Given the description of an element on the screen output the (x, y) to click on. 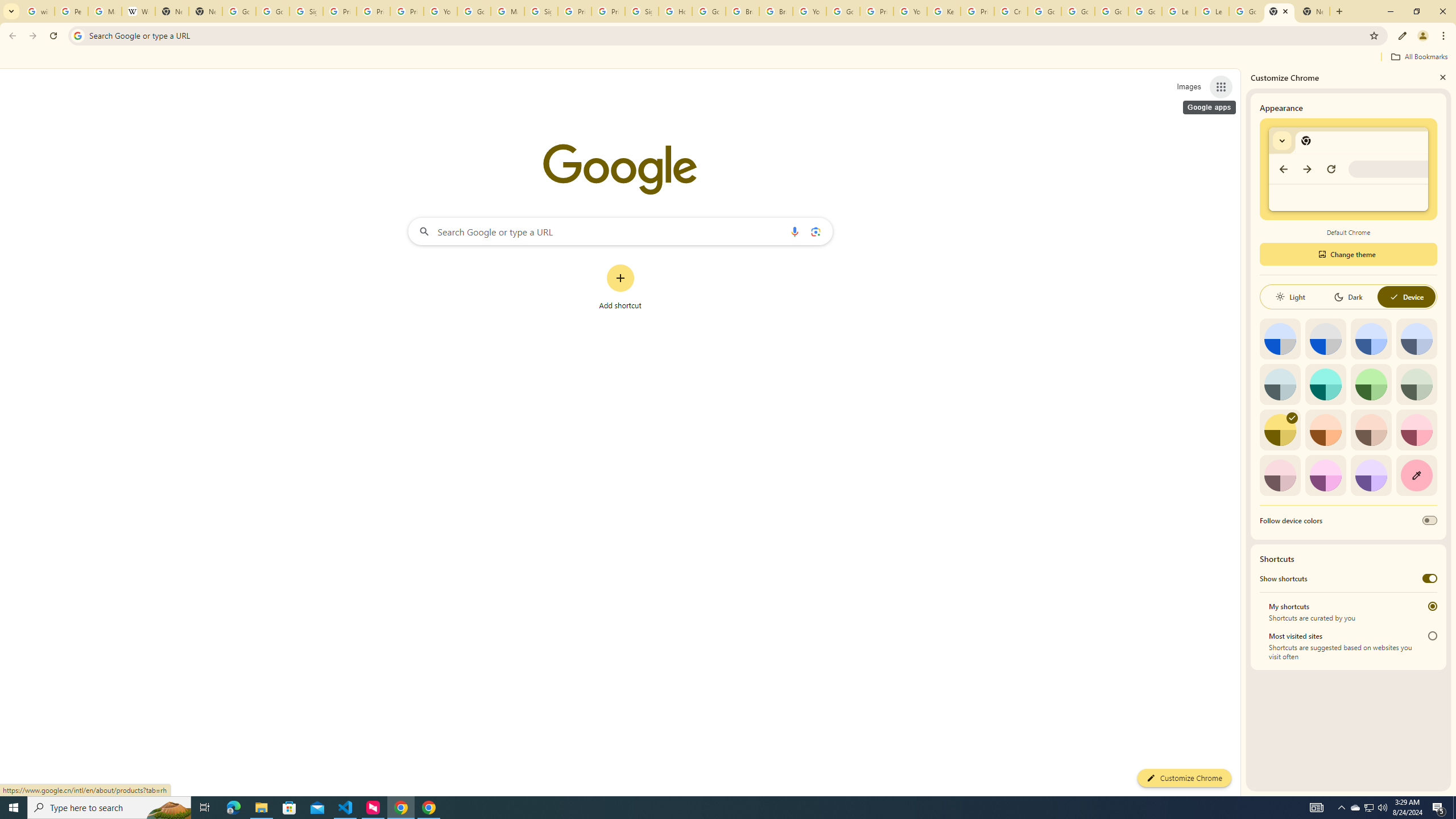
Personalization & Google Search results - Google Search Help (71, 11)
AutomationID: baseSvg (1394, 296)
Google Account (1246, 11)
Google Account Help (1077, 11)
Address and search bar (725, 35)
Dark (1348, 296)
Rose (1416, 429)
Fuchsia (1325, 475)
Bookmarks (728, 58)
New Tab (1313, 11)
Blue (1371, 338)
